Given the description of an element on the screen output the (x, y) to click on. 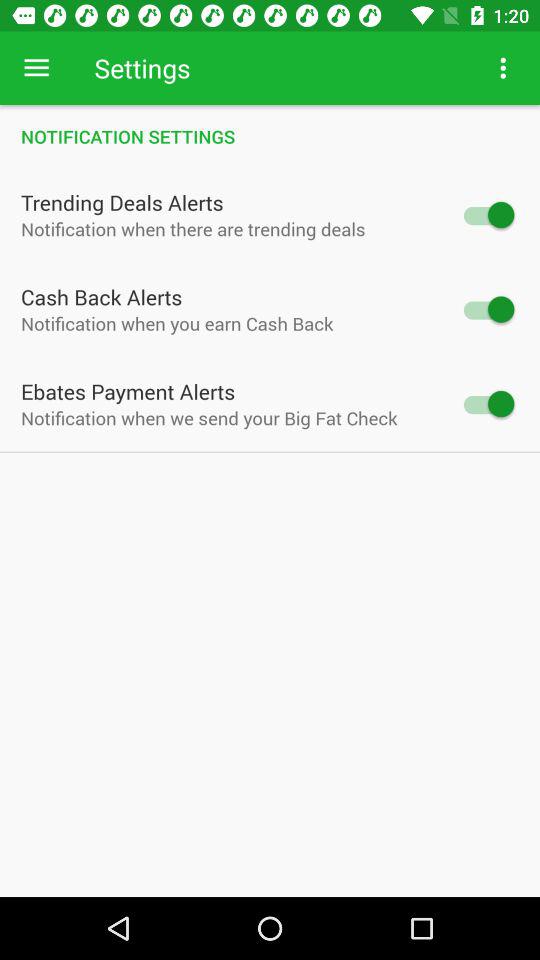
click item to the left of settings item (36, 68)
